Given the description of an element on the screen output the (x, y) to click on. 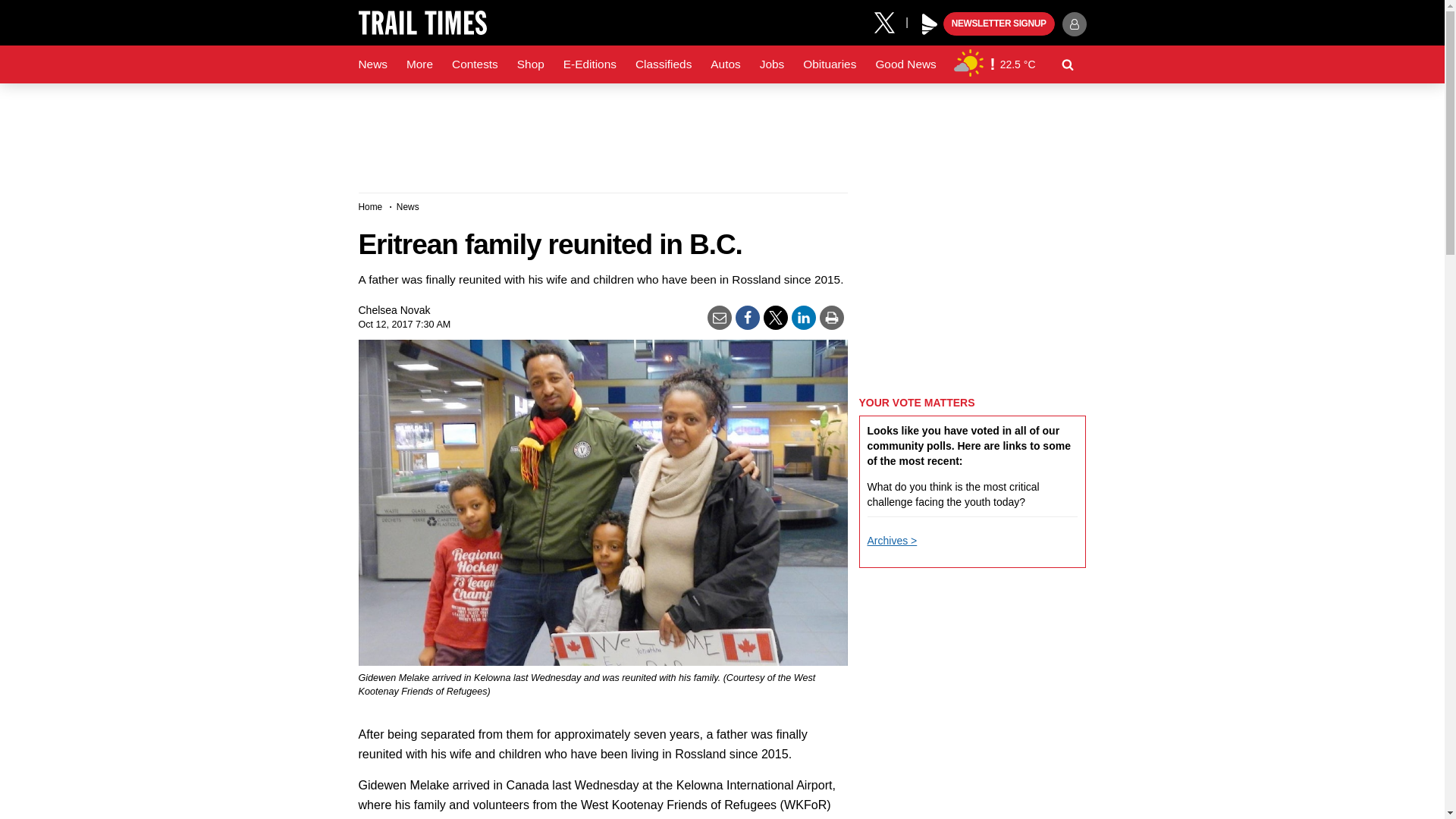
X (889, 21)
Black Press Media (929, 24)
NEWSLETTER SIGNUP (998, 24)
3rd party ad content (972, 287)
3rd party ad content (721, 131)
Play (929, 24)
News (372, 64)
Weather alert (992, 64)
